Given the description of an element on the screen output the (x, y) to click on. 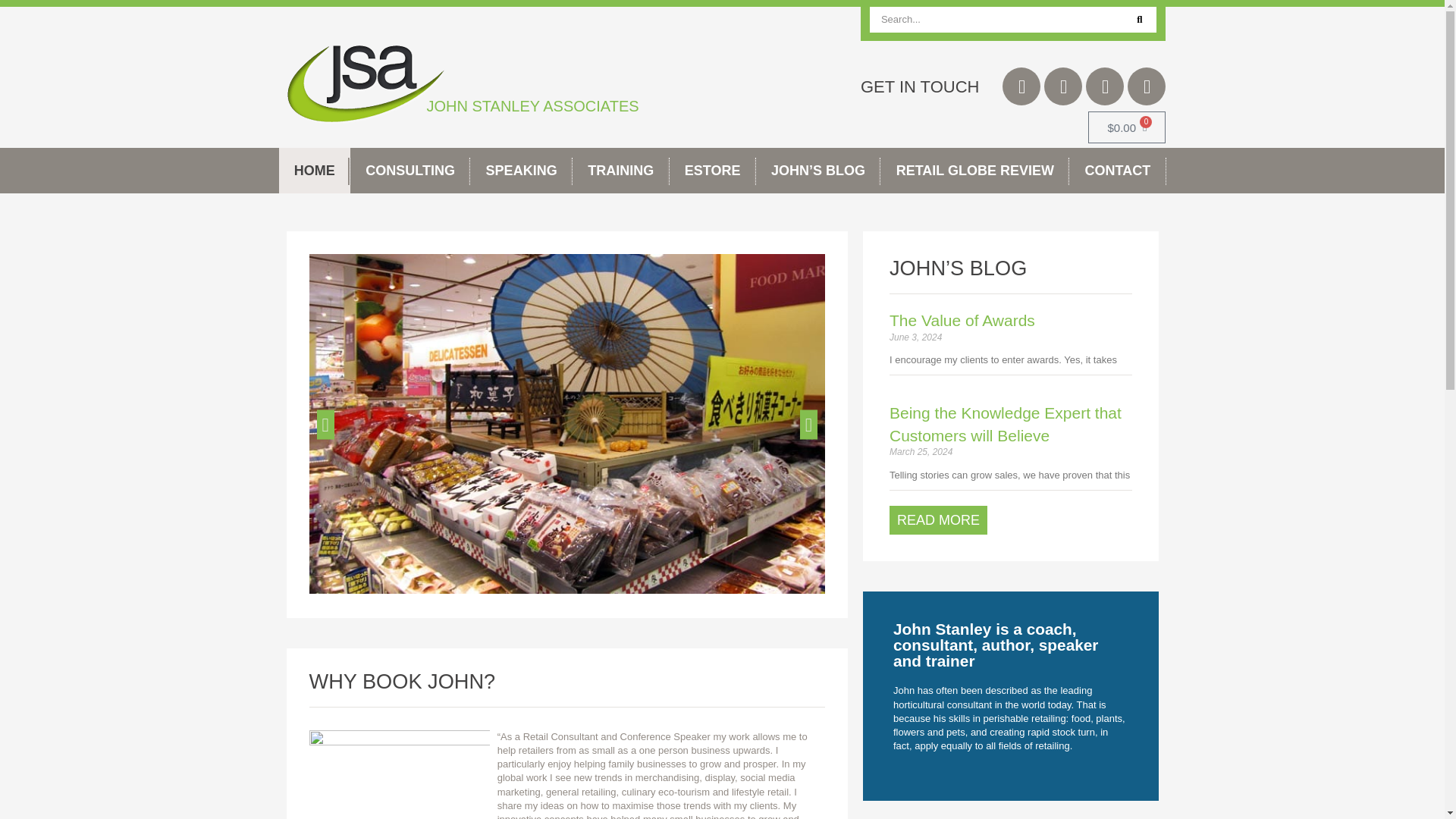
SPEAKING (521, 170)
Twitter (1022, 86)
CONSULTING (410, 170)
CONTACT (1117, 170)
HOME (314, 170)
Facebook-f (1062, 86)
Search (1139, 19)
Youtube (1146, 86)
Linkedin-in (1105, 86)
RETAIL GLOBE REVIEW (974, 170)
TRAINING (620, 170)
ESTORE (712, 170)
